Given the description of an element on the screen output the (x, y) to click on. 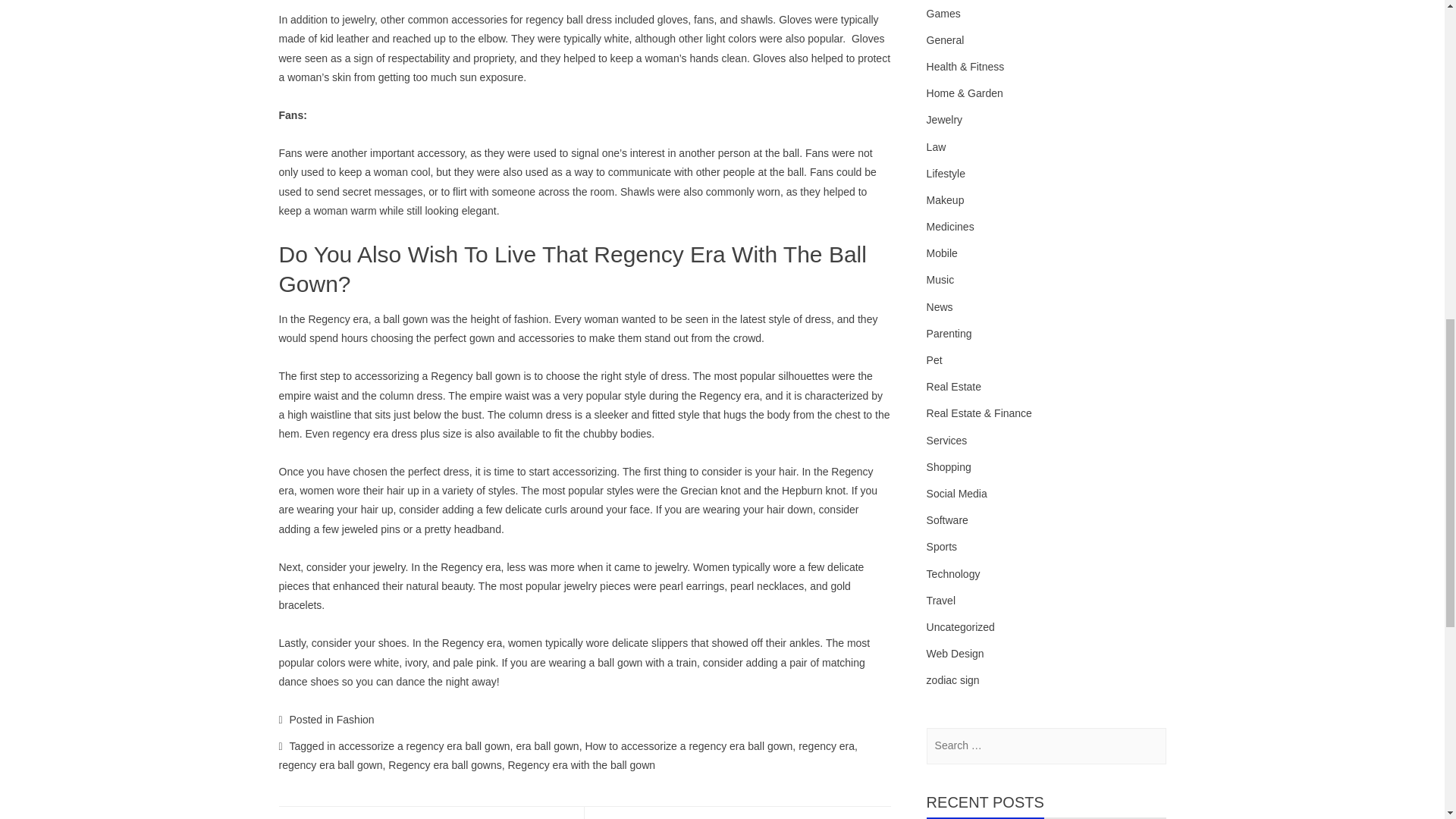
regency era ball gown (330, 765)
regency era (825, 746)
accessorize a regency era ball gown (423, 746)
Fashion (355, 719)
era ball gown (546, 746)
Regency era ball gowns (444, 765)
How to accessorize a regency era ball gown (688, 746)
Regency era with the ball gown (580, 765)
